Given the description of an element on the screen output the (x, y) to click on. 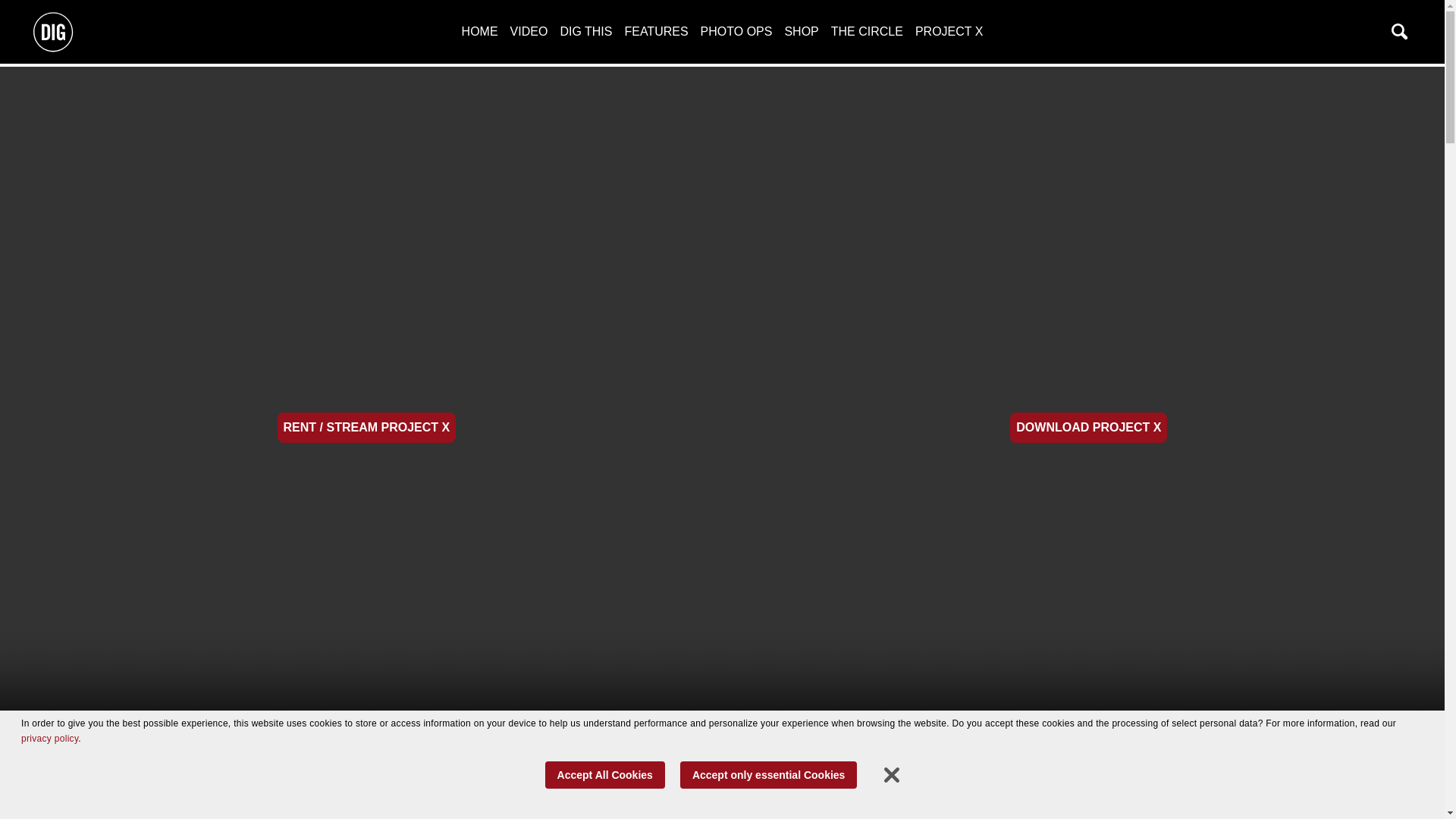
VIDEO (528, 31)
DIG THIS (585, 31)
SHOP (800, 31)
PHOTO OPS (736, 31)
PROJECT X (949, 31)
DOWNLOAD PROJECT X (1088, 427)
THE CIRCLE (866, 31)
FEATURES (655, 31)
HOME (479, 31)
